Given the description of an element on the screen output the (x, y) to click on. 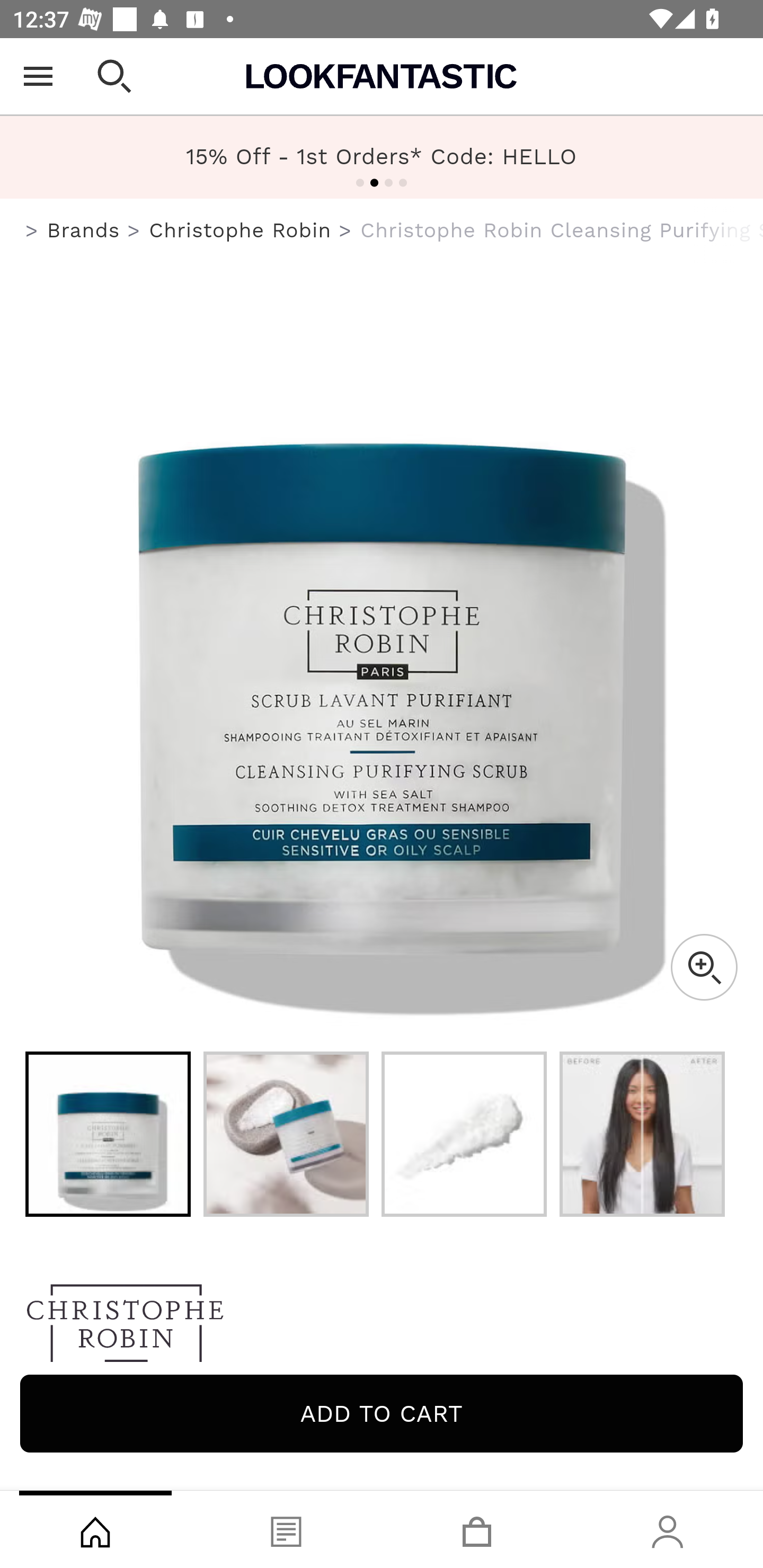
Open Menu (38, 75)
Open search (114, 75)
Lookfantastic USA (381, 75)
FREE US Shipping Over $40 (381, 157)
us.lookfantastic (32, 230)
Brands (82, 230)
Christophe Robin (239, 230)
Zoom (703, 966)
Christophe Robin (381, 1327)
Add to cart (381, 1413)
Shop, tab, 1 of 4 (95, 1529)
Blog, tab, 2 of 4 (285, 1529)
Basket, tab, 3 of 4 (476, 1529)
Account, tab, 4 of 4 (667, 1529)
